Given the description of an element on the screen output the (x, y) to click on. 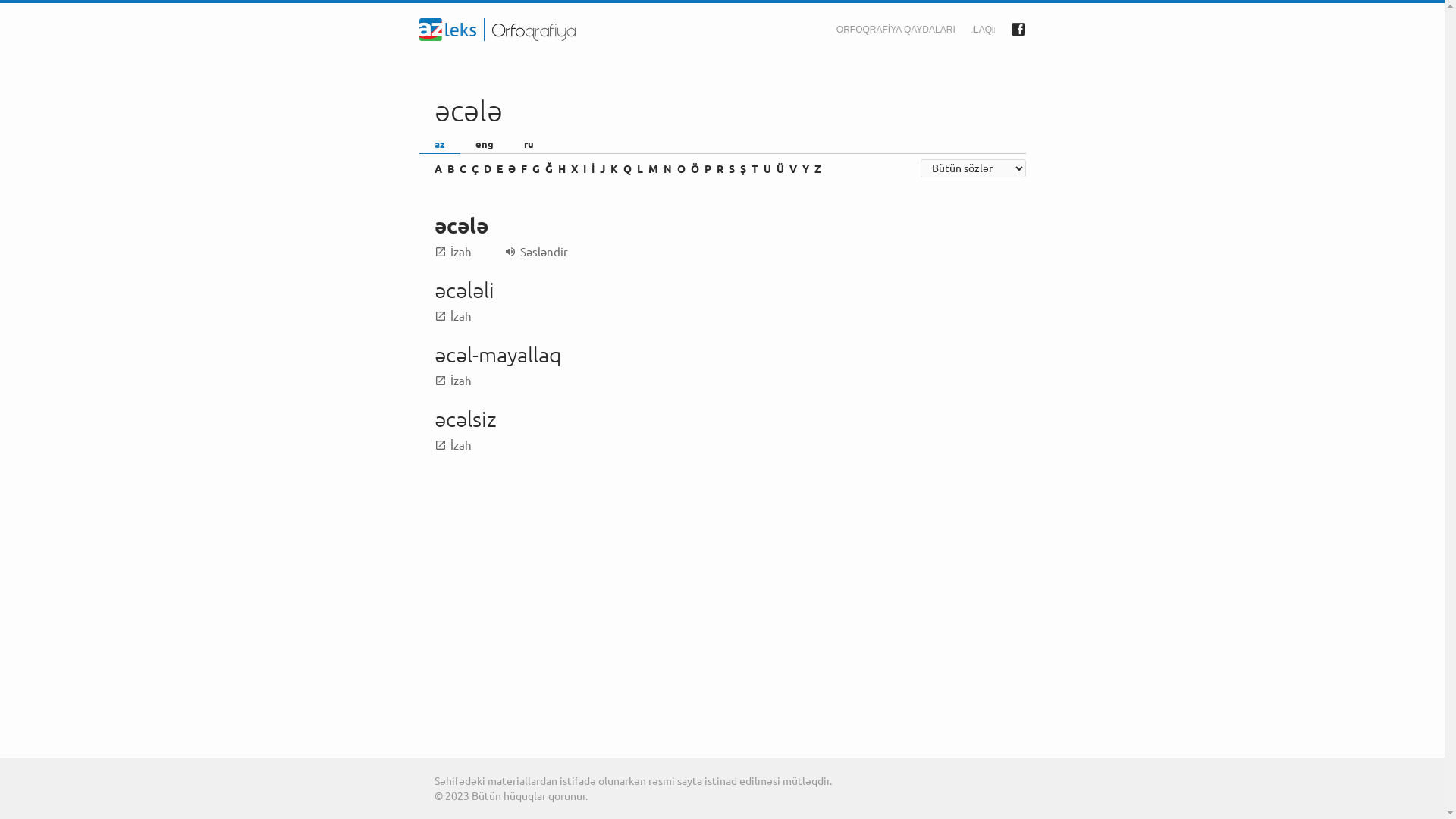
U Element type: text (766, 168)
V Element type: text (792, 168)
S Element type: text (731, 168)
K Element type: text (613, 168)
Q Element type: text (627, 168)
X Element type: text (573, 168)
D Element type: text (487, 168)
F Element type: text (523, 168)
B Element type: text (450, 168)
P Element type: text (706, 168)
A Element type: text (437, 168)
I Element type: text (583, 168)
T Element type: text (753, 168)
E Element type: text (498, 168)
ORFOQRAFIYA QAYDALARI Element type: text (895, 29)
eng Element type: text (483, 143)
R Element type: text (718, 168)
L Element type: text (640, 168)
ru Element type: text (528, 143)
Z Element type: text (817, 168)
G Element type: text (535, 168)
az Element type: text (438, 143)
O Element type: text (680, 168)
Y Element type: text (805, 168)
M Element type: text (652, 168)
C Element type: text (462, 168)
H Element type: text (561, 168)
J Element type: text (601, 168)
N Element type: text (666, 168)
